Given the description of an element on the screen output the (x, y) to click on. 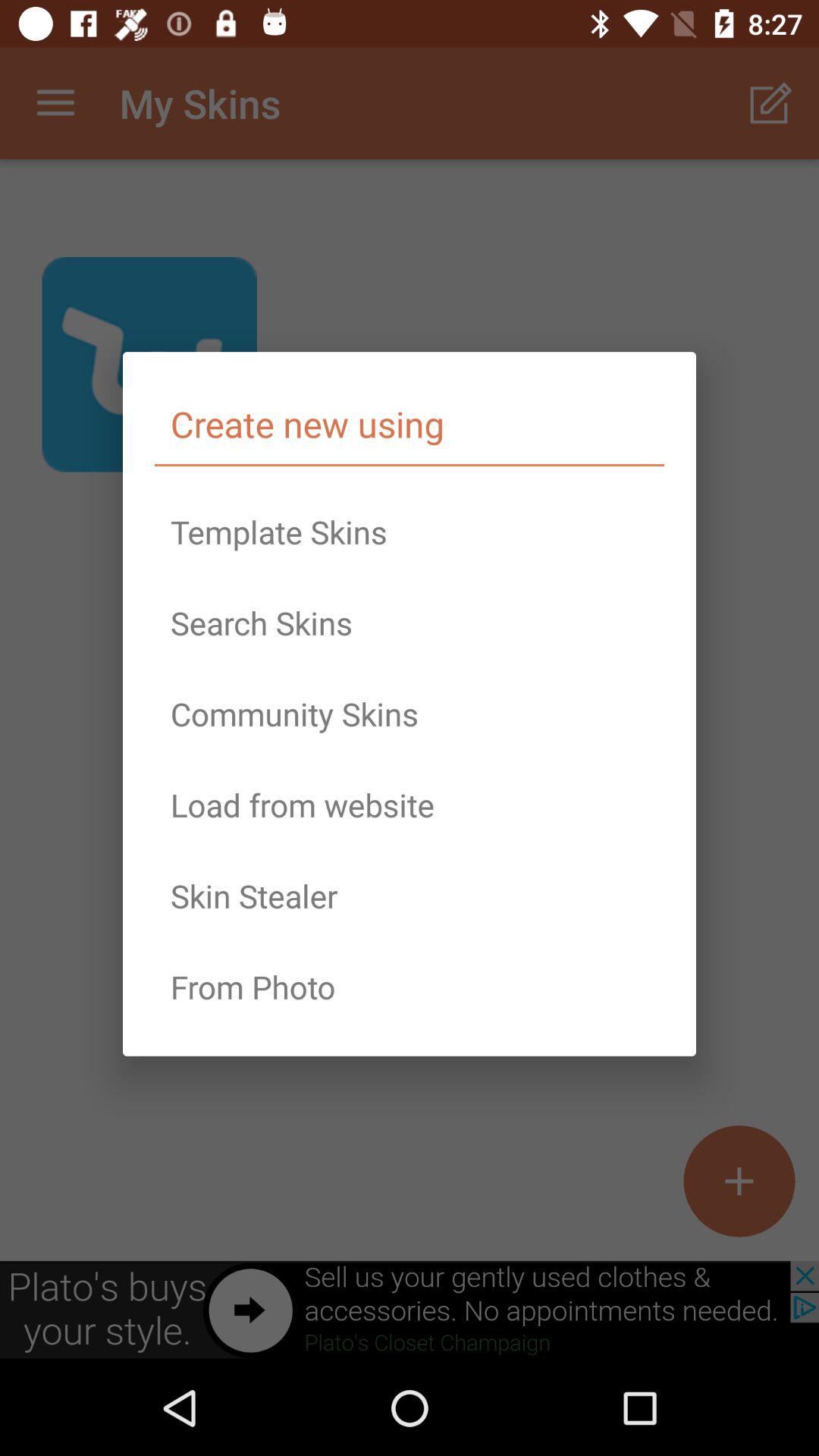
choose the icon below community skins icon (409, 804)
